Given the description of an element on the screen output the (x, y) to click on. 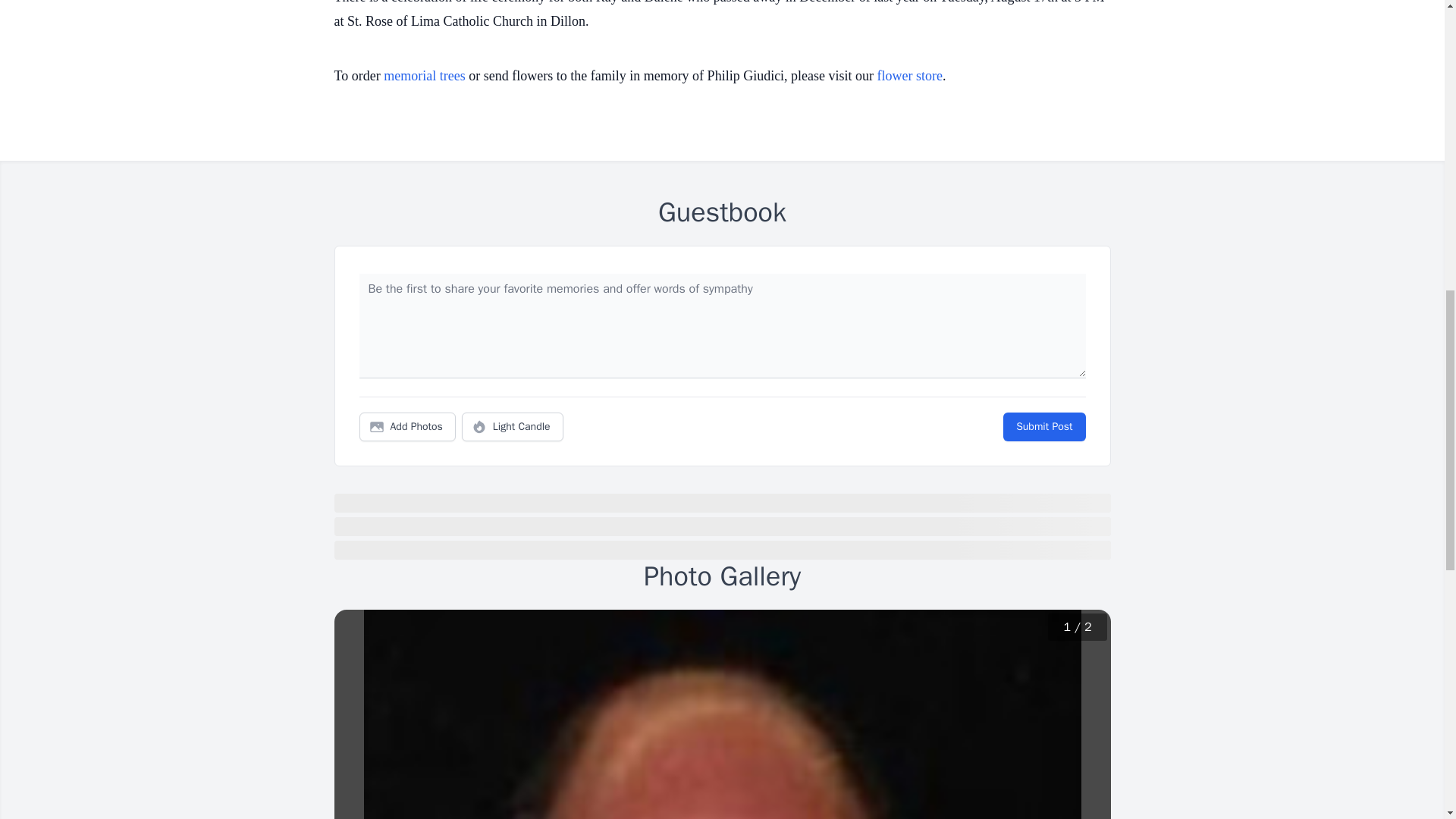
memorial trees (424, 75)
Submit Post (1043, 426)
Light Candle (512, 426)
flower store (909, 75)
Add Photos (407, 426)
